Given the description of an element on the screen output the (x, y) to click on. 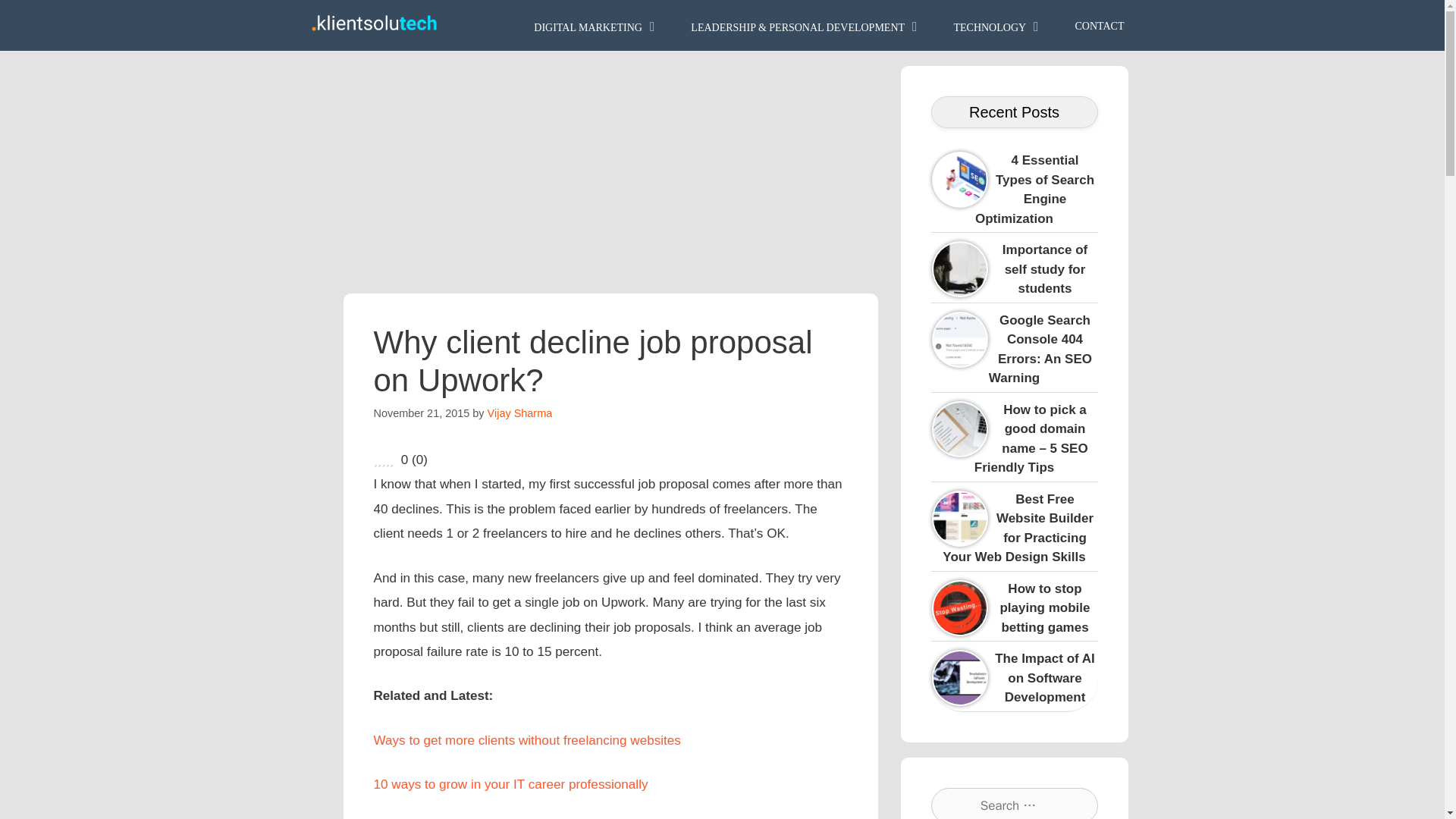
CONTACT (1099, 24)
10 ways to grow in your IT career professionally (509, 784)
How to pick a good domain name - 5 SEO Friendly Tips (1030, 438)
DIGITAL MARKETING (596, 25)
How to stop playing mobile betting games (1043, 606)
View all posts by Vijay Sharma (520, 413)
The Impact of AI on Software Development (1077, 659)
Importance of self study for students (1045, 268)
